Given the description of an element on the screen output the (x, y) to click on. 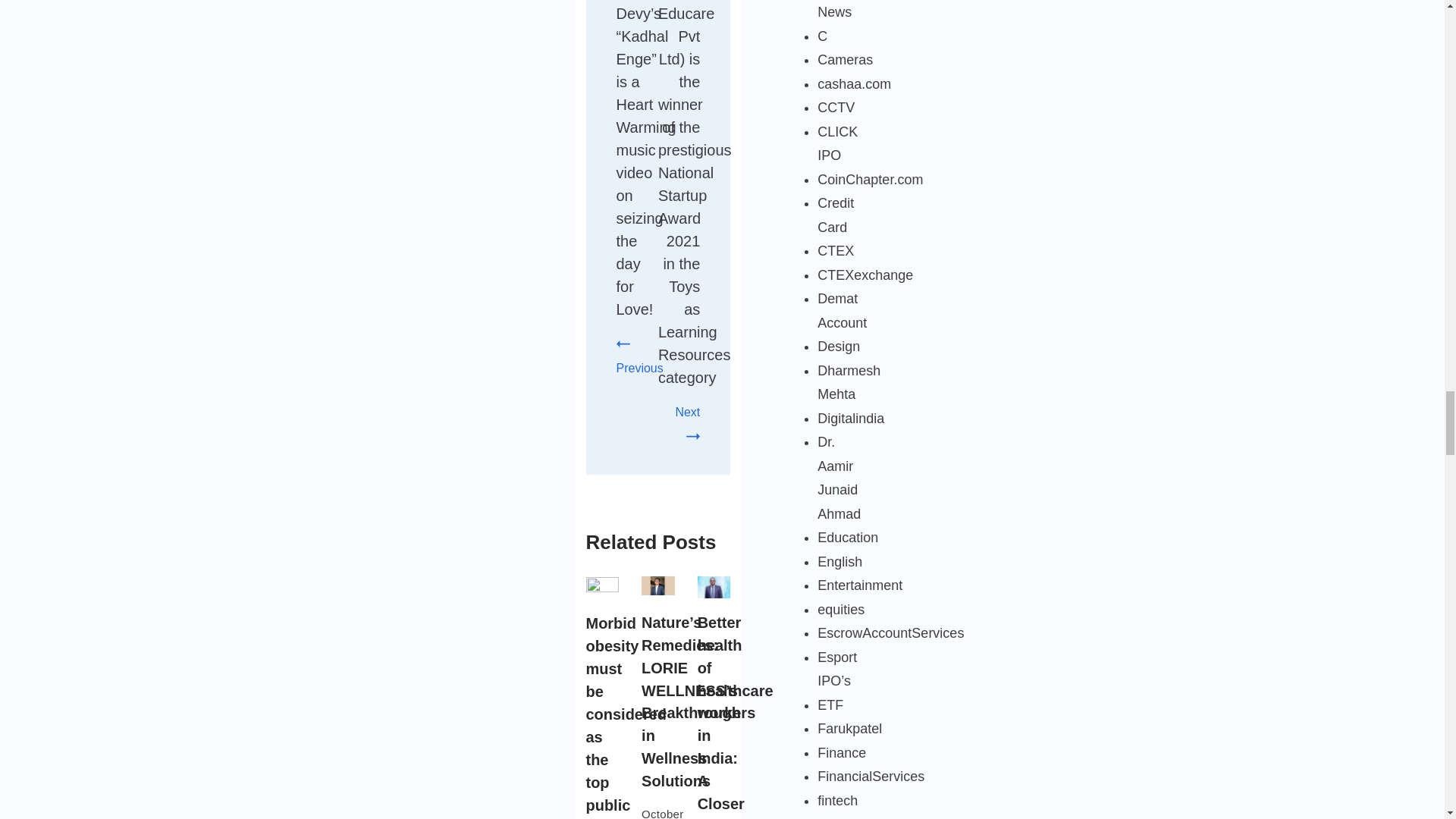
Previous (638, 355)
